Given the description of an element on the screen output the (x, y) to click on. 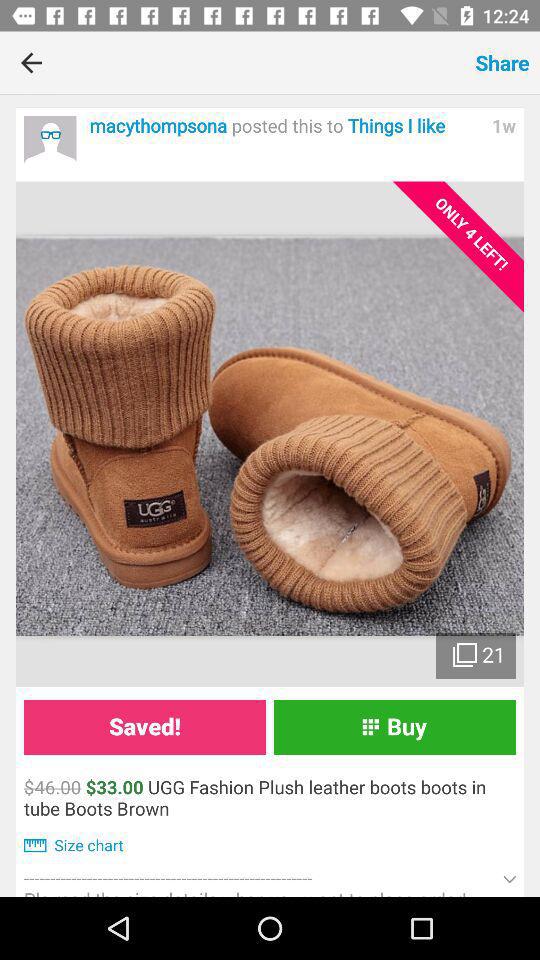
select the item to the left of the share icon (263, 62)
